Given the description of an element on the screen output the (x, y) to click on. 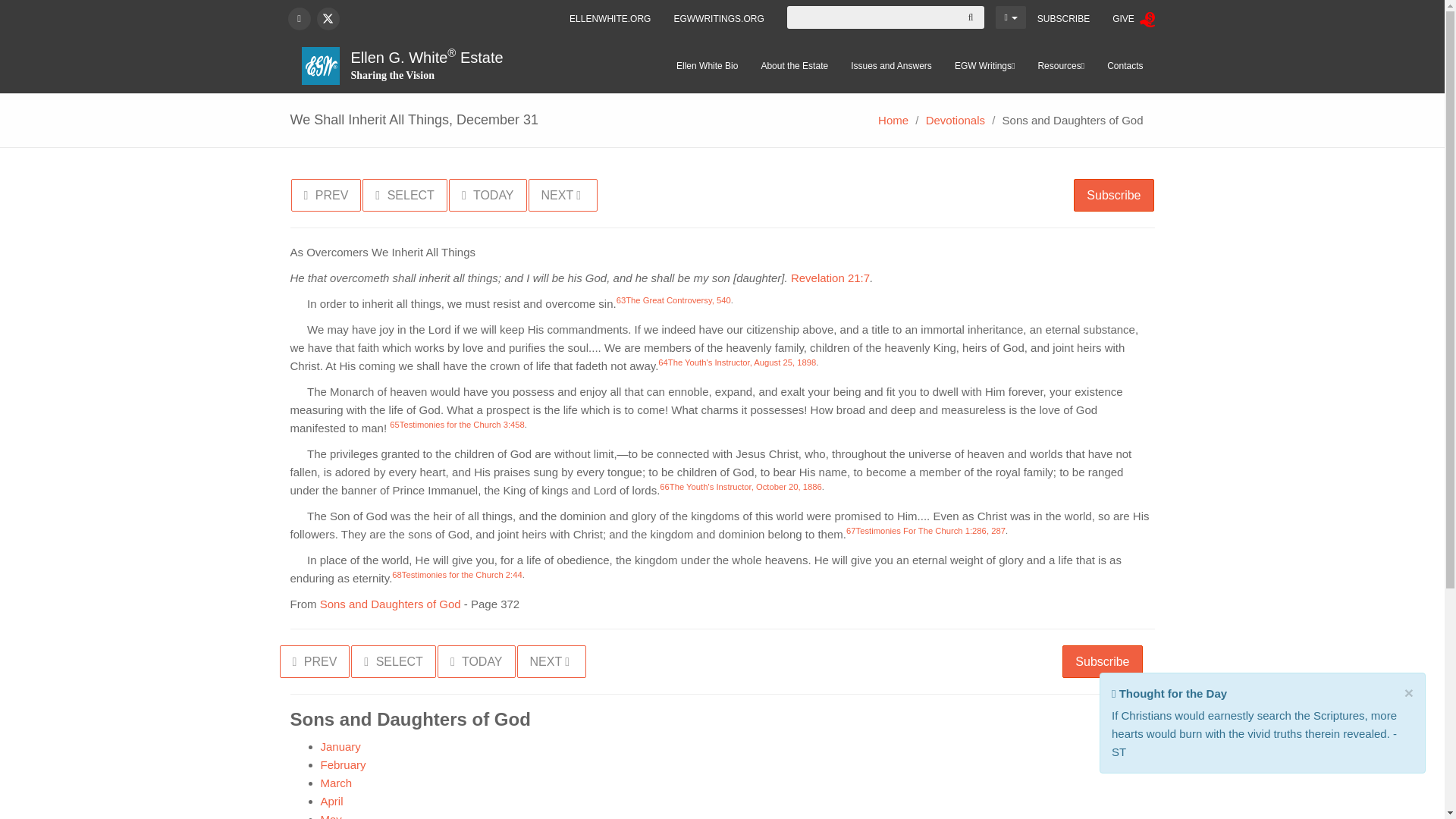
SUBSCRIBE (1063, 18)
Revelation 21:7 (829, 277)
YI 8-25-1898 (741, 361)
GC 540.1 (678, 299)
About the Estate (794, 65)
GIVE   (1133, 19)
YI 10-20-1886 (745, 486)
Ellen White Bio (707, 65)
2T 44.1 (461, 574)
EGW Writings (984, 65)
EGWWRITINGS.ORG (718, 18)
3T 458.1 (461, 424)
Share (1169, 693)
ELLENWHITE.ORG (609, 18)
Issues and Answers (891, 65)
